Given the description of an element on the screen output the (x, y) to click on. 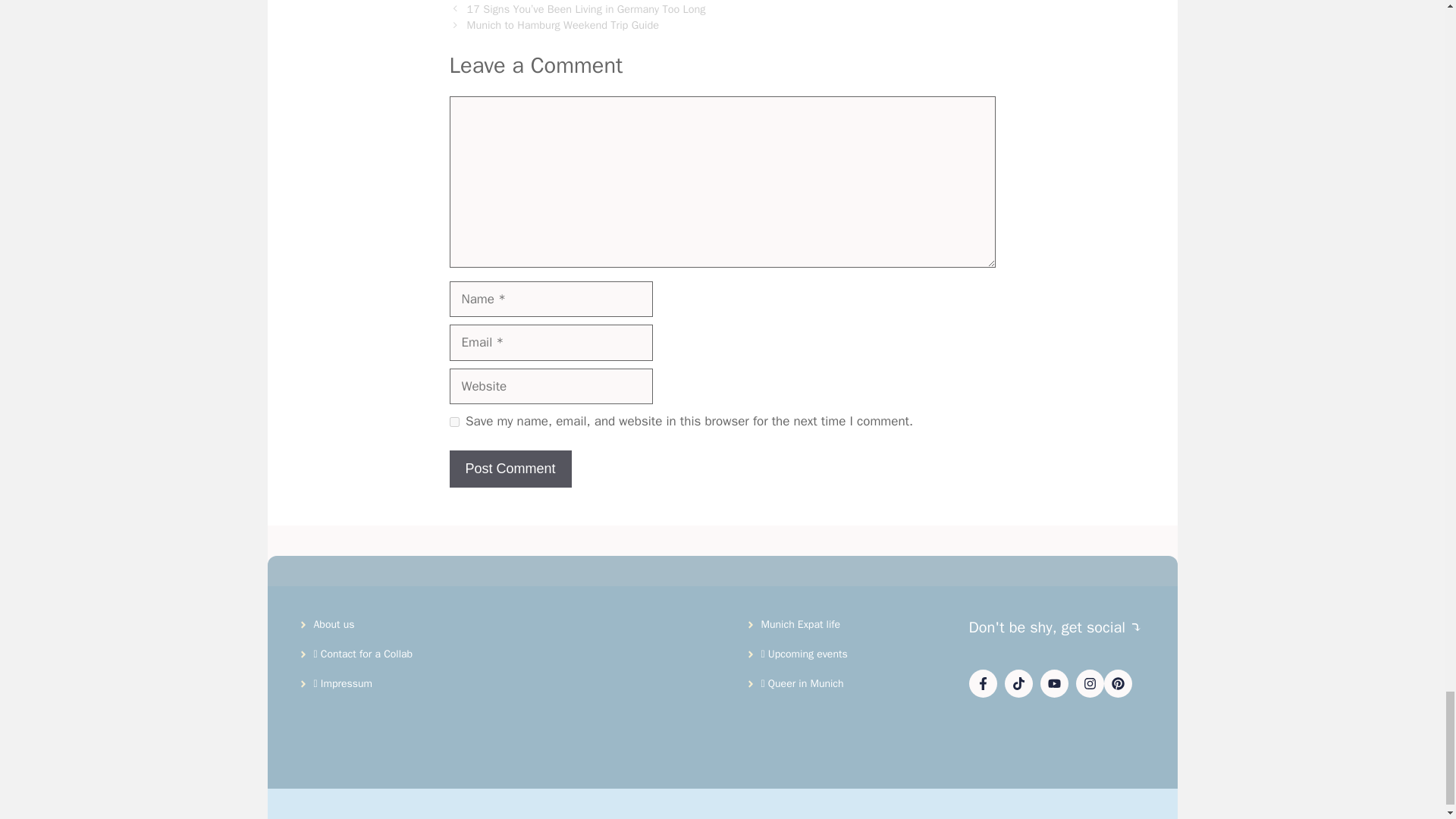
Post Comment (509, 468)
yes (453, 420)
